Given the description of an element on the screen output the (x, y) to click on. 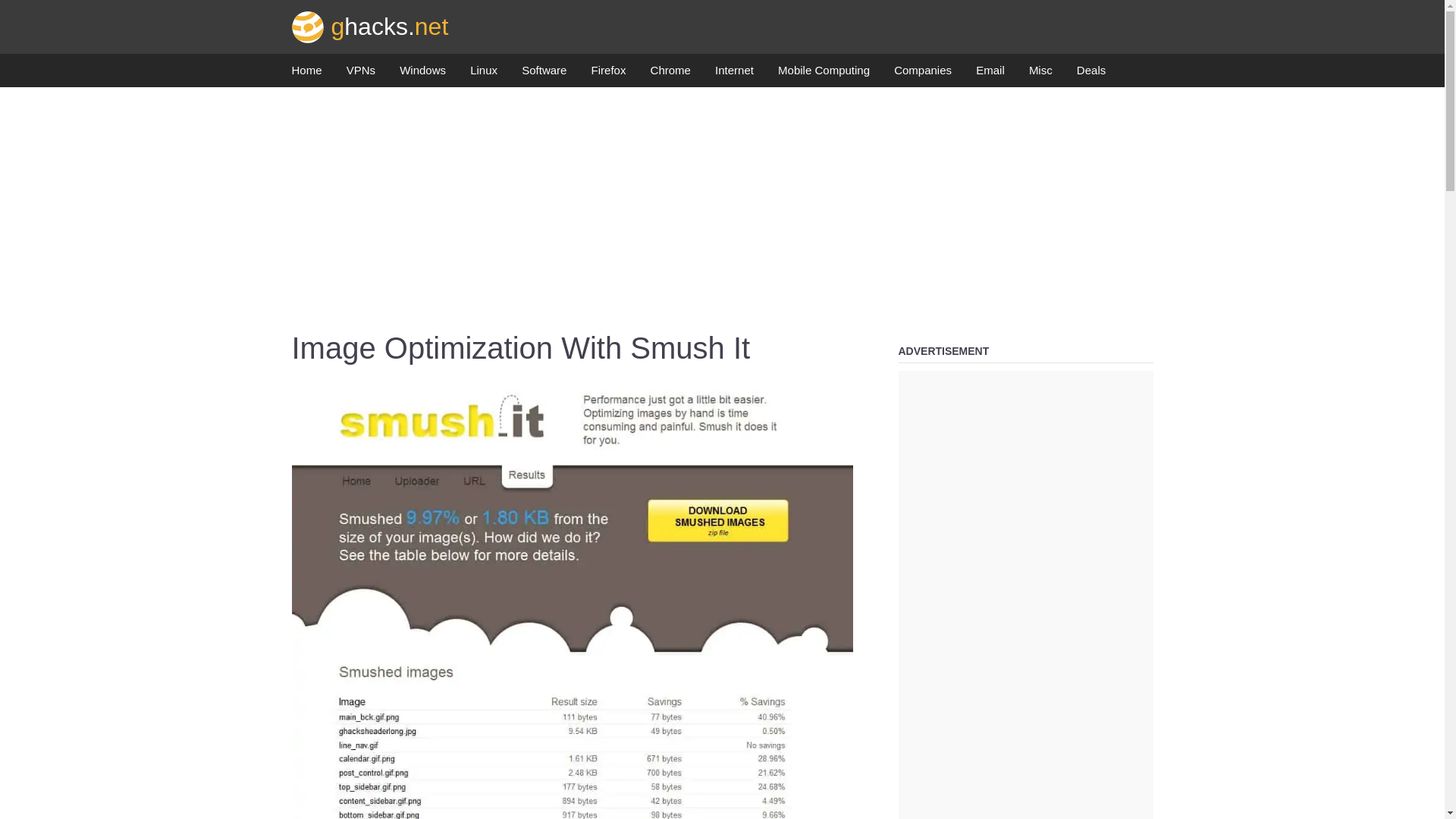
Misc (1040, 73)
Software (543, 73)
Windows (421, 73)
Deals (1091, 73)
Chrome (670, 73)
Home (306, 73)
Linux (483, 73)
Mobile Computing (823, 73)
Firefox (608, 73)
ghacks.net (369, 26)
